Given the description of an element on the screen output the (x, y) to click on. 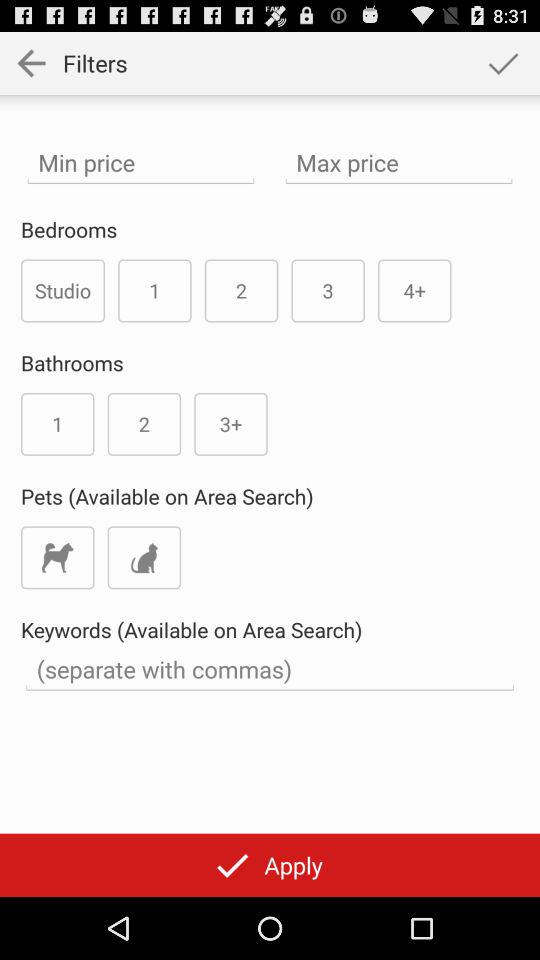
tap the item above the keywords available on icon (57, 557)
